Given the description of an element on the screen output the (x, y) to click on. 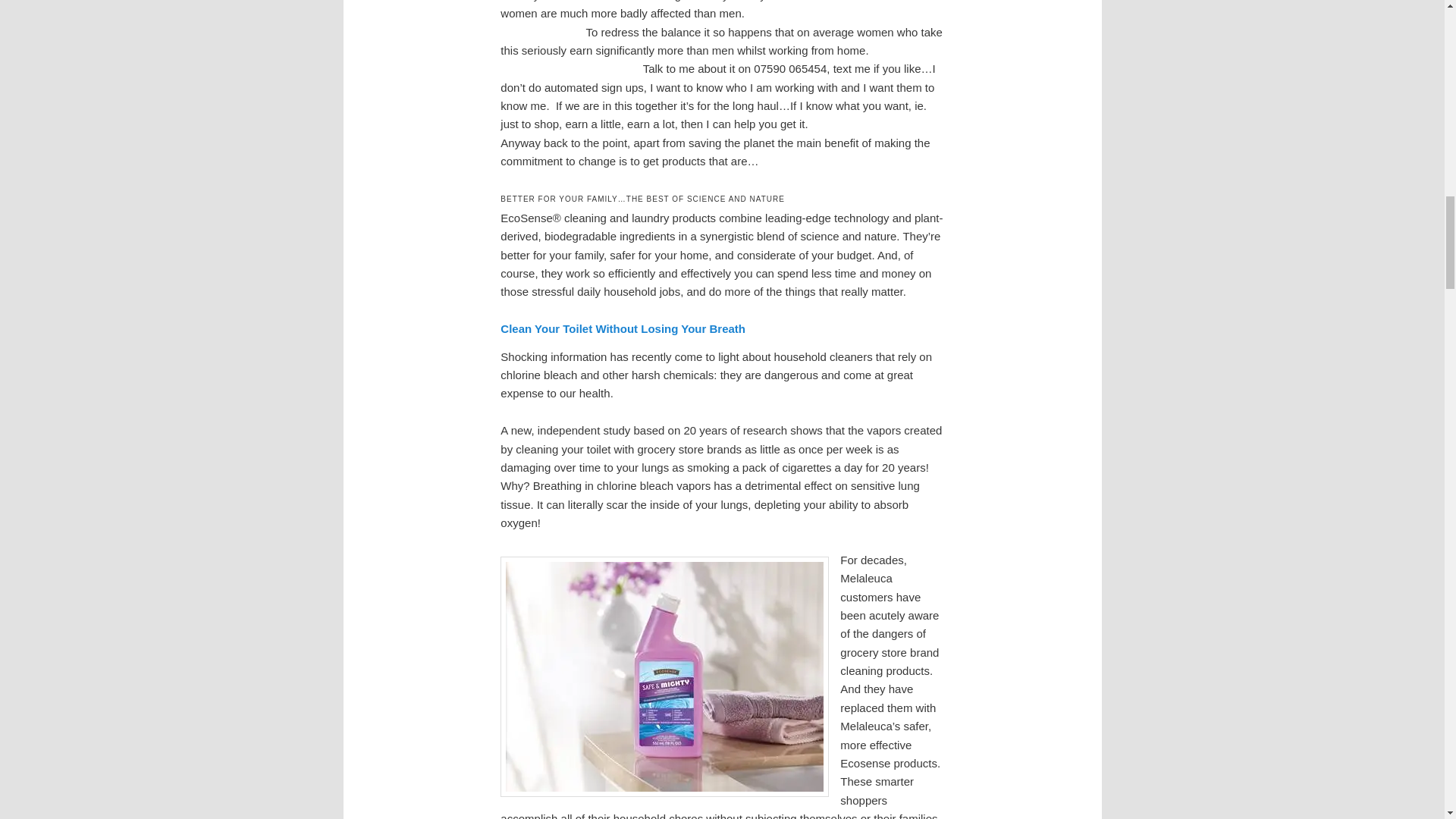
Clean Your Toilet Without Losing Your Breath (622, 328)
